Given the description of an element on the screen output the (x, y) to click on. 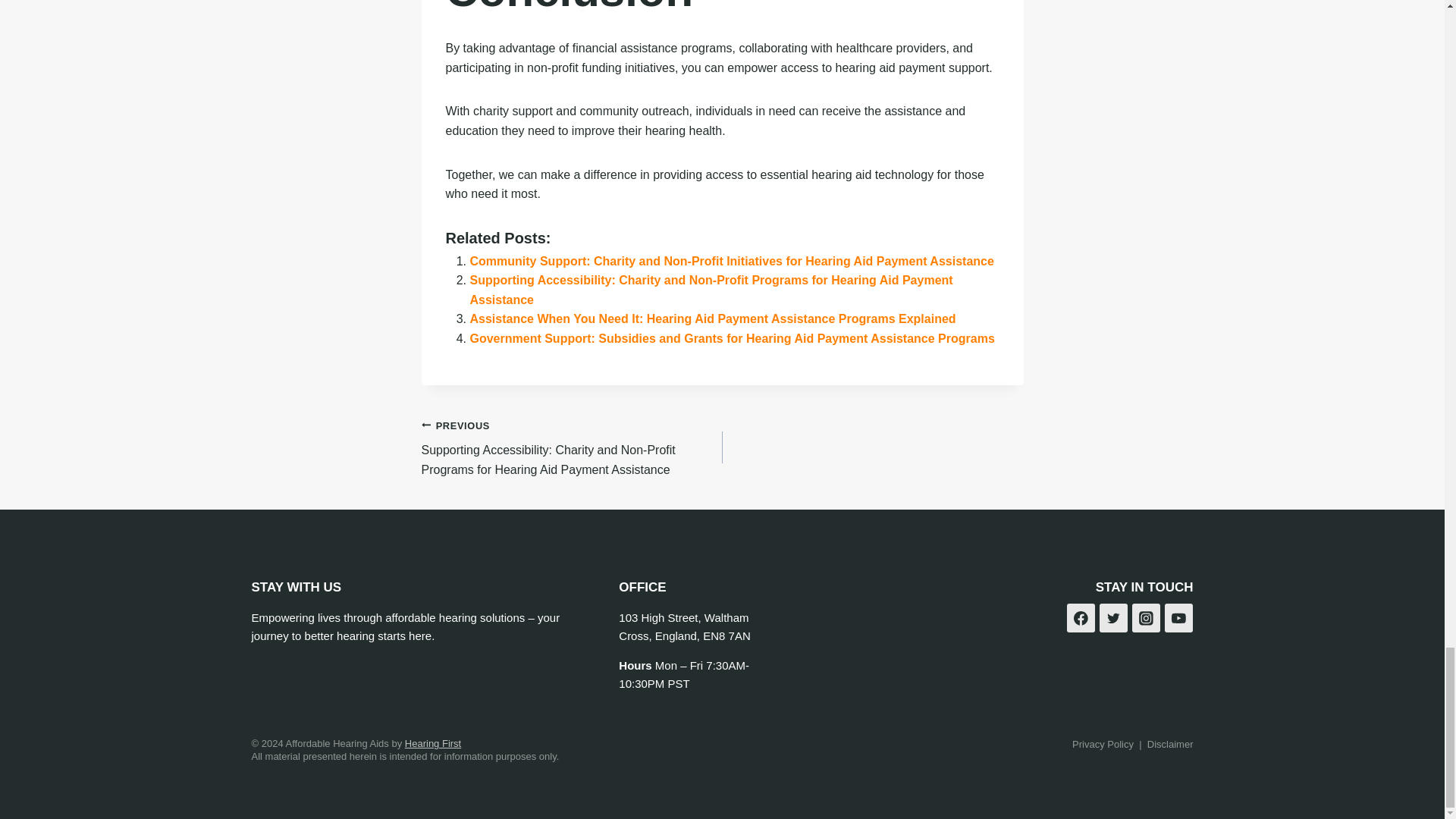
Disclaimer (1170, 744)
Privacy Policy (1102, 744)
Hearing First (432, 743)
